Given the description of an element on the screen output the (x, y) to click on. 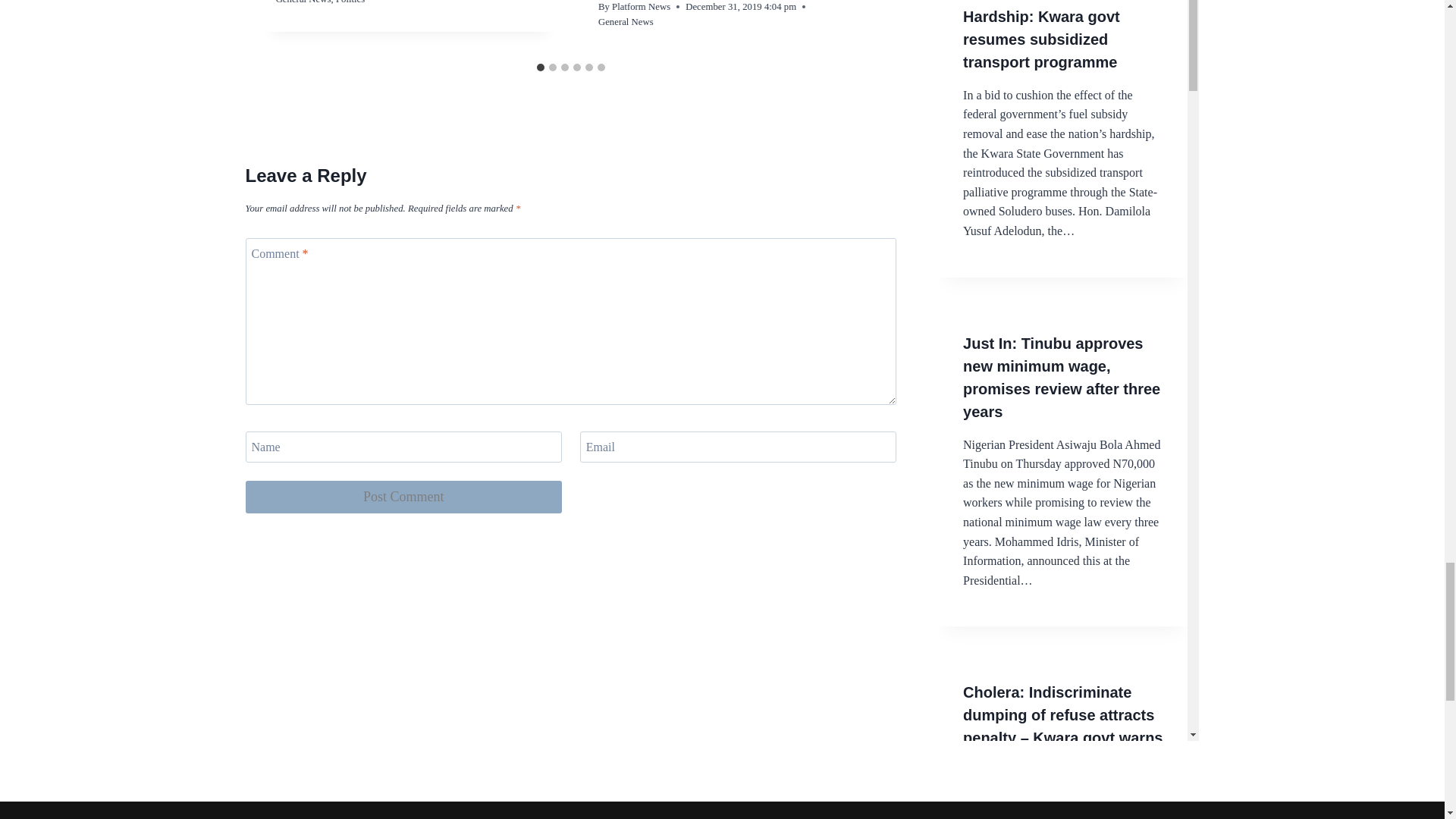
Advertisement (1062, 45)
Post Comment (404, 496)
